Given the description of an element on the screen output the (x, y) to click on. 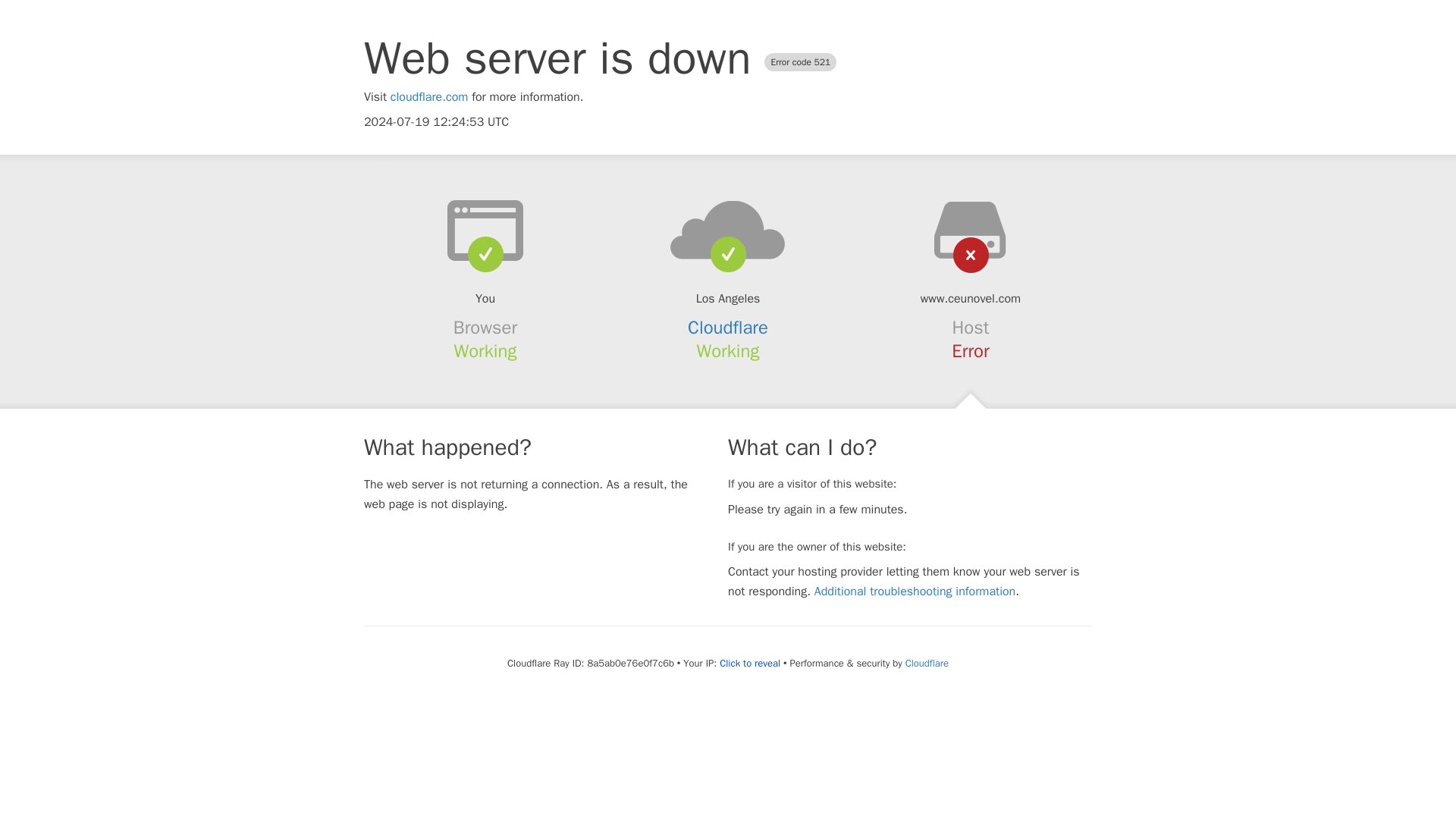
Click to reveal (749, 663)
Additional troubleshooting information (913, 590)
Cloudflare (927, 662)
cloudflare.com (429, 96)
Cloudflare (727, 327)
